Given the description of an element on the screen output the (x, y) to click on. 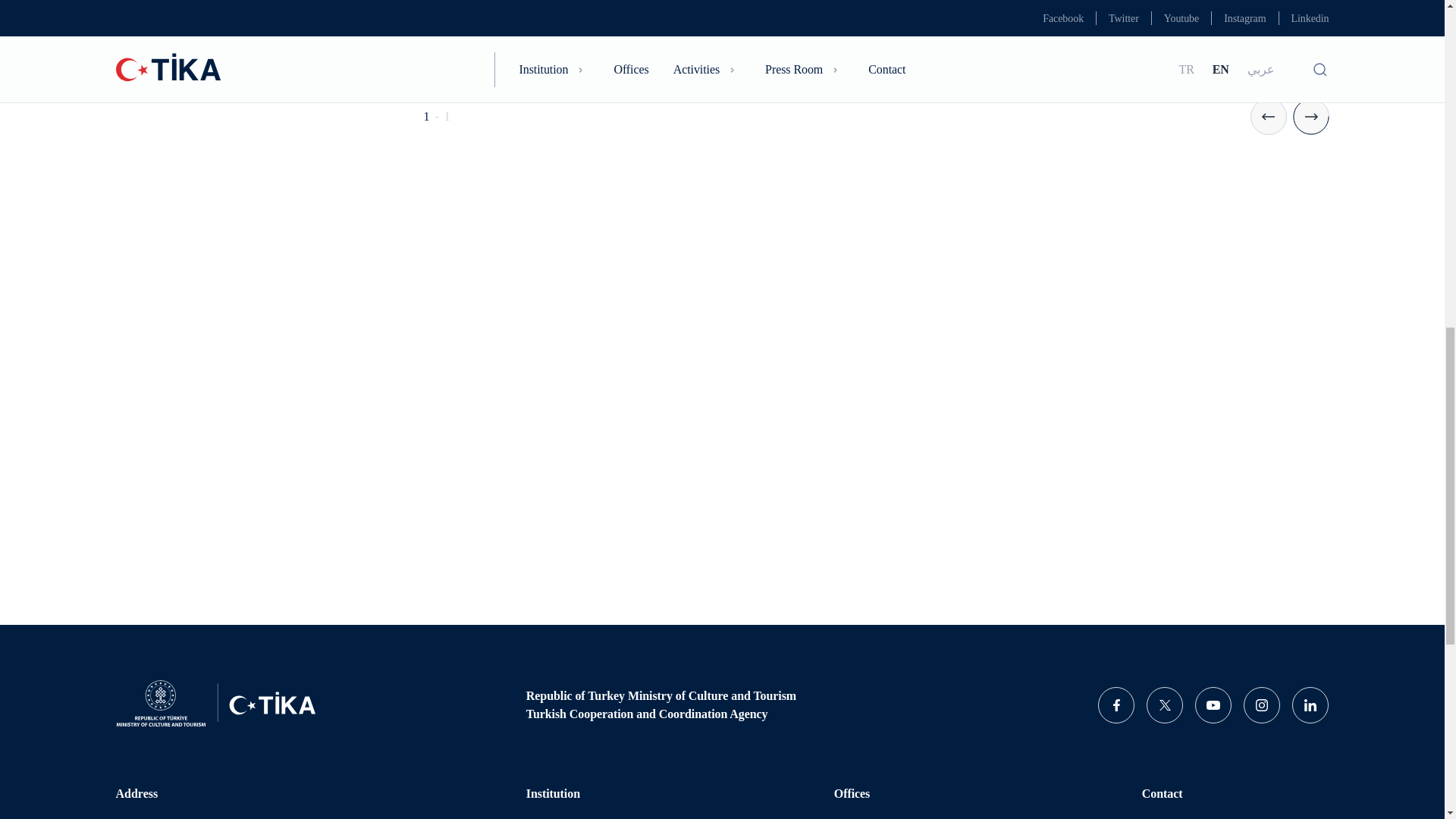
1 - 1 (875, 67)
